Given the description of an element on the screen output the (x, y) to click on. 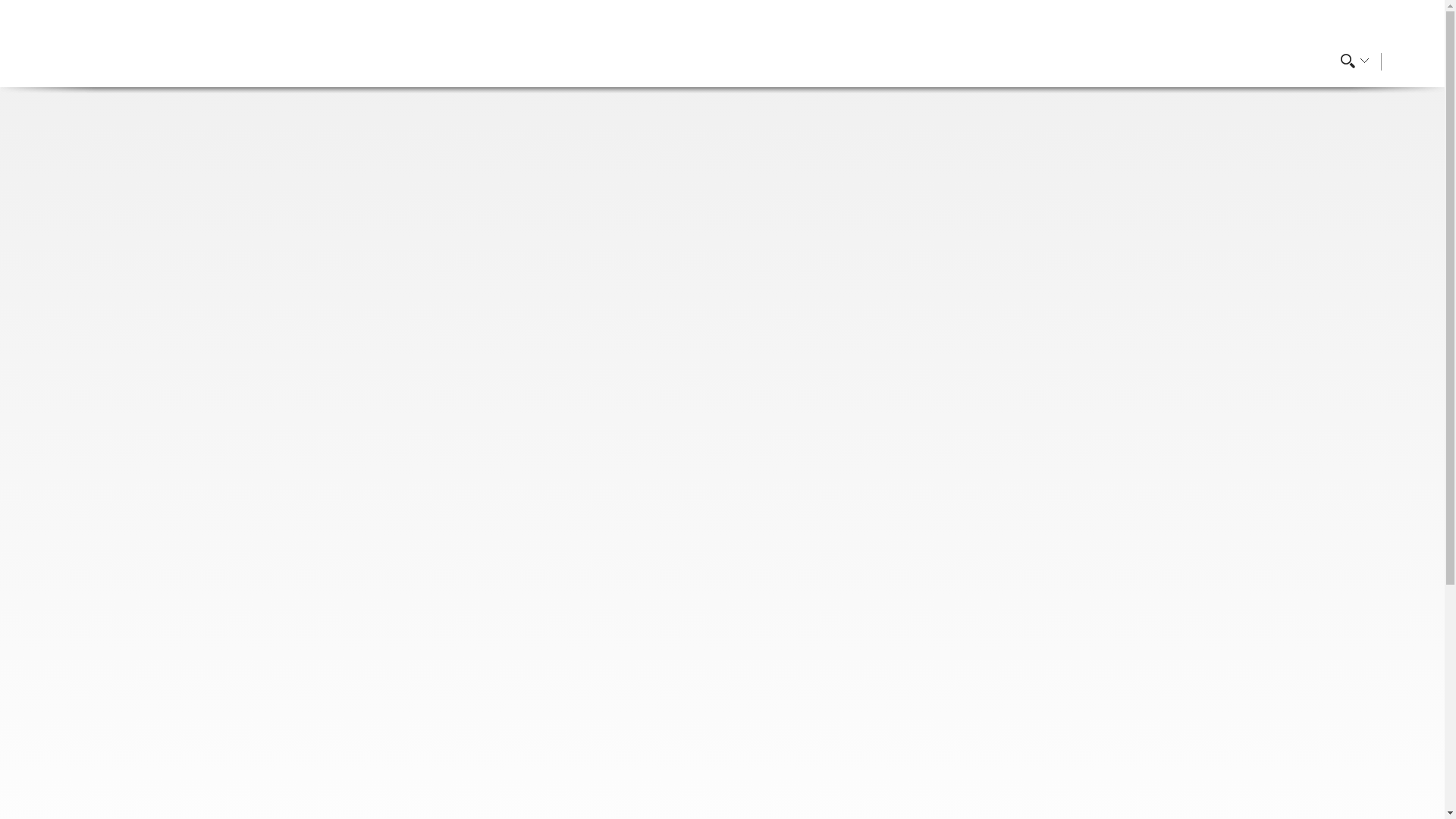
Search (1032, 41)
Search (1032, 41)
Search (1032, 41)
